Given the description of an element on the screen output the (x, y) to click on. 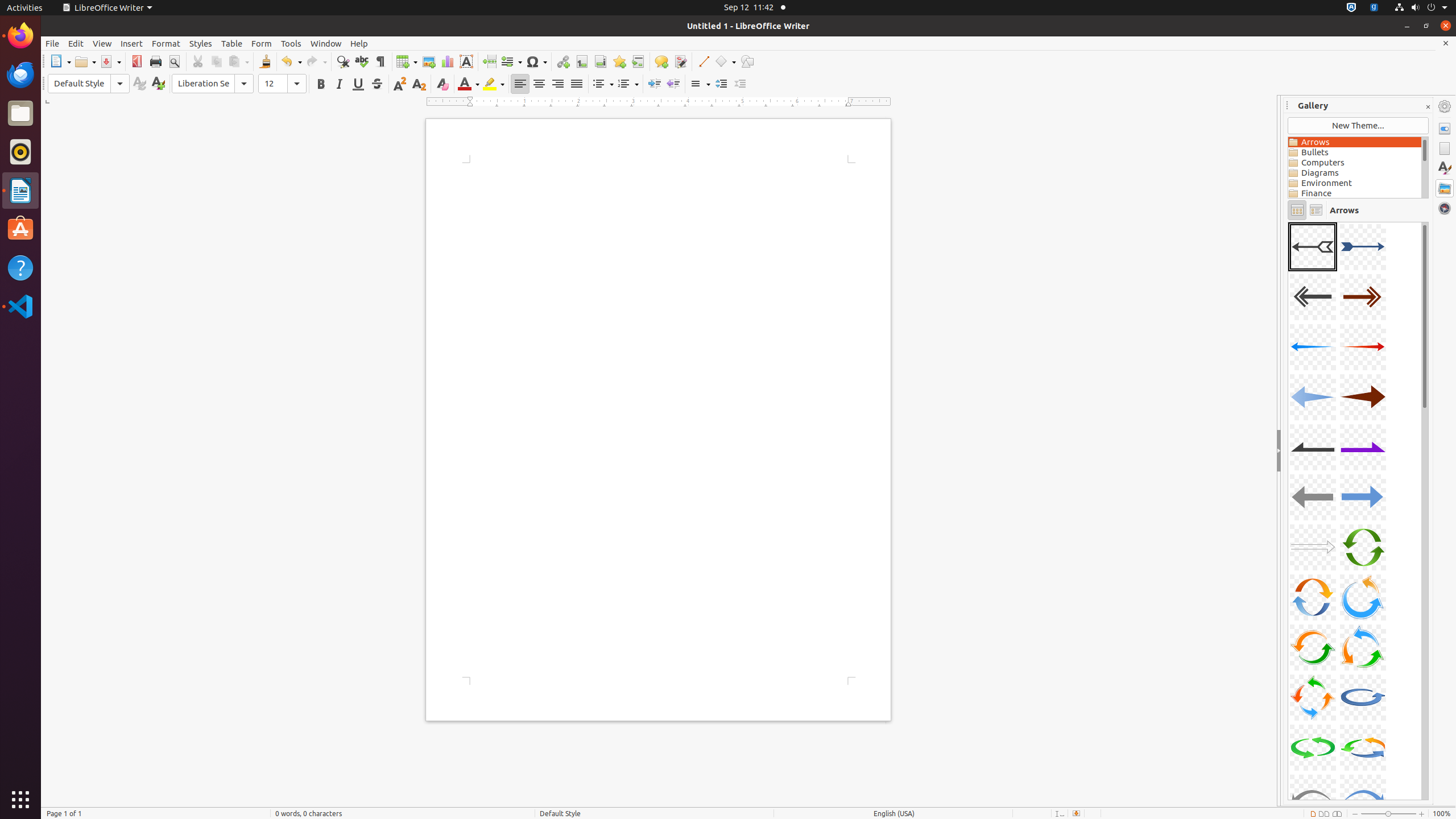
Visual Studio Code Element type: push-button (20, 306)
A15-CircleArrow Element type: list-item (1312, 596)
Superscript Element type: toggle-button (399, 83)
Chart Element type: push-button (446, 61)
Justified Element type: toggle-button (576, 83)
